Given the description of an element on the screen output the (x, y) to click on. 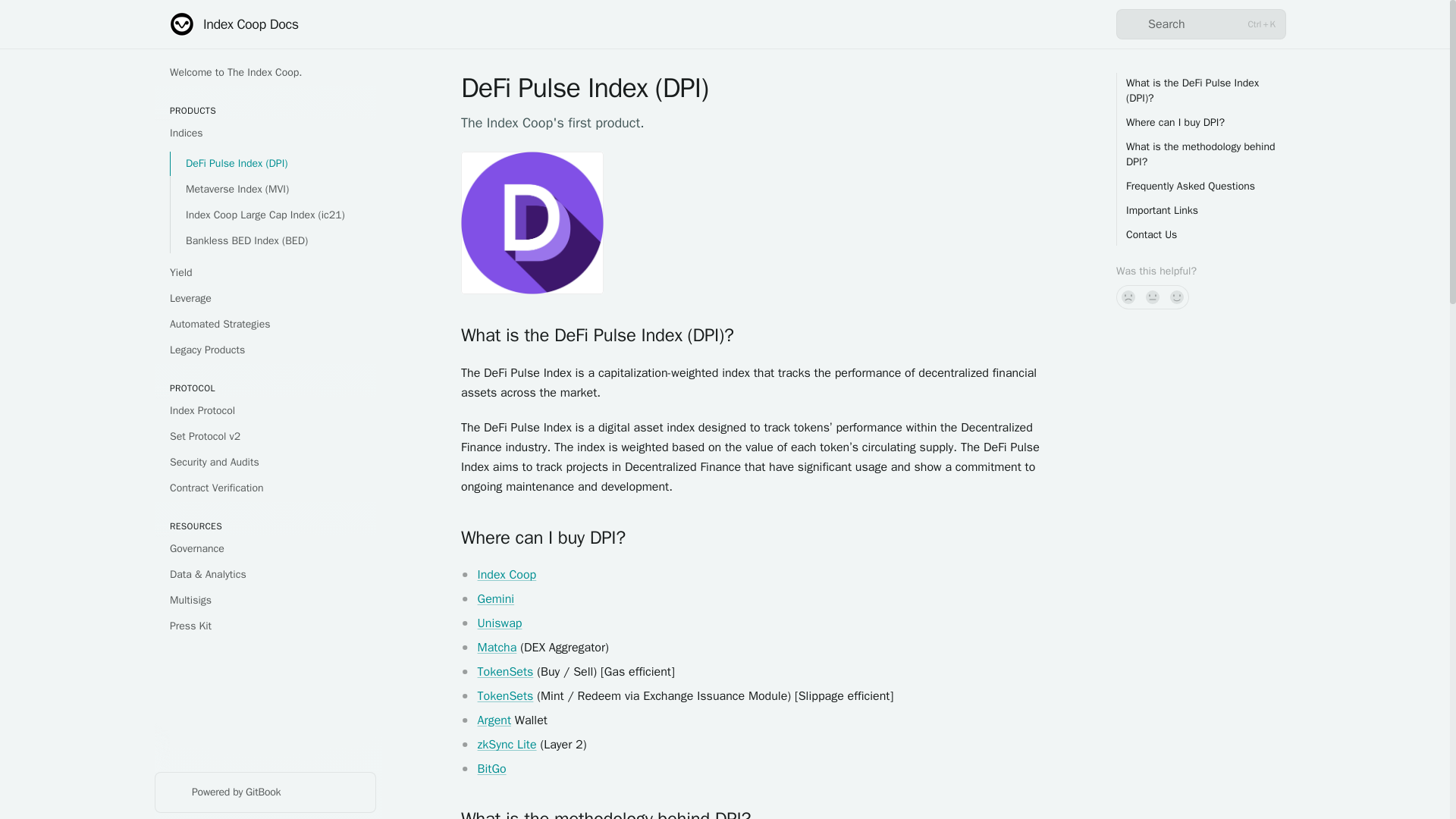
Leverage (264, 298)
Automated Strategies (264, 324)
Index Coop Docs (234, 24)
Legacy Products (264, 350)
Not sure (1152, 297)
Yield (264, 273)
Welcome to The Index Coop. (264, 72)
No (1128, 297)
Yes, it was! (1176, 297)
Indices (264, 133)
